Given the description of an element on the screen output the (x, y) to click on. 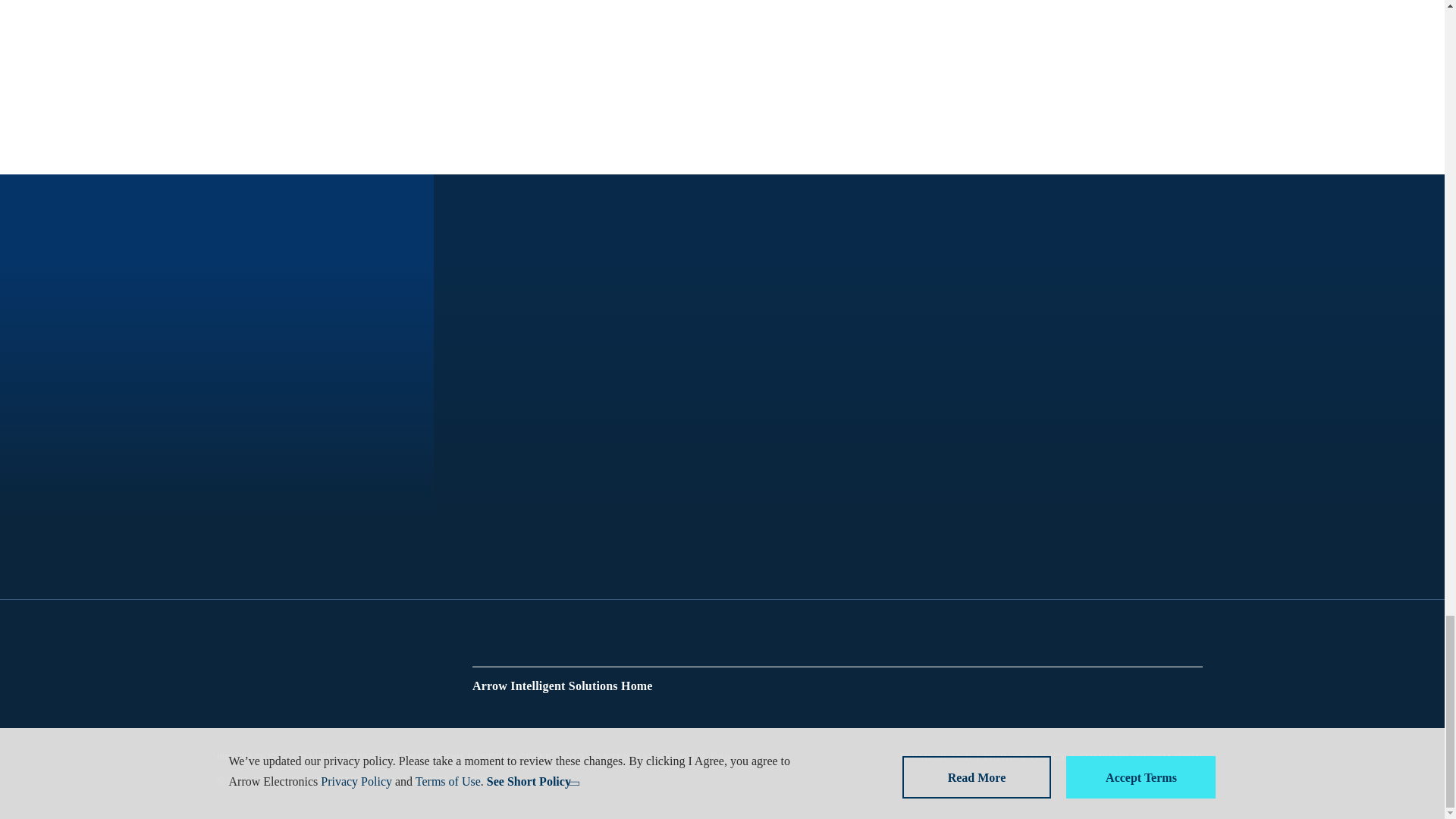
TERMS OF USE (935, 756)
PRIVACY POLICY (1025, 756)
COMPANY INFORMATION (1140, 756)
Arrow Intelligent Solutions Home (561, 685)
